Given the description of an element on the screen output the (x, y) to click on. 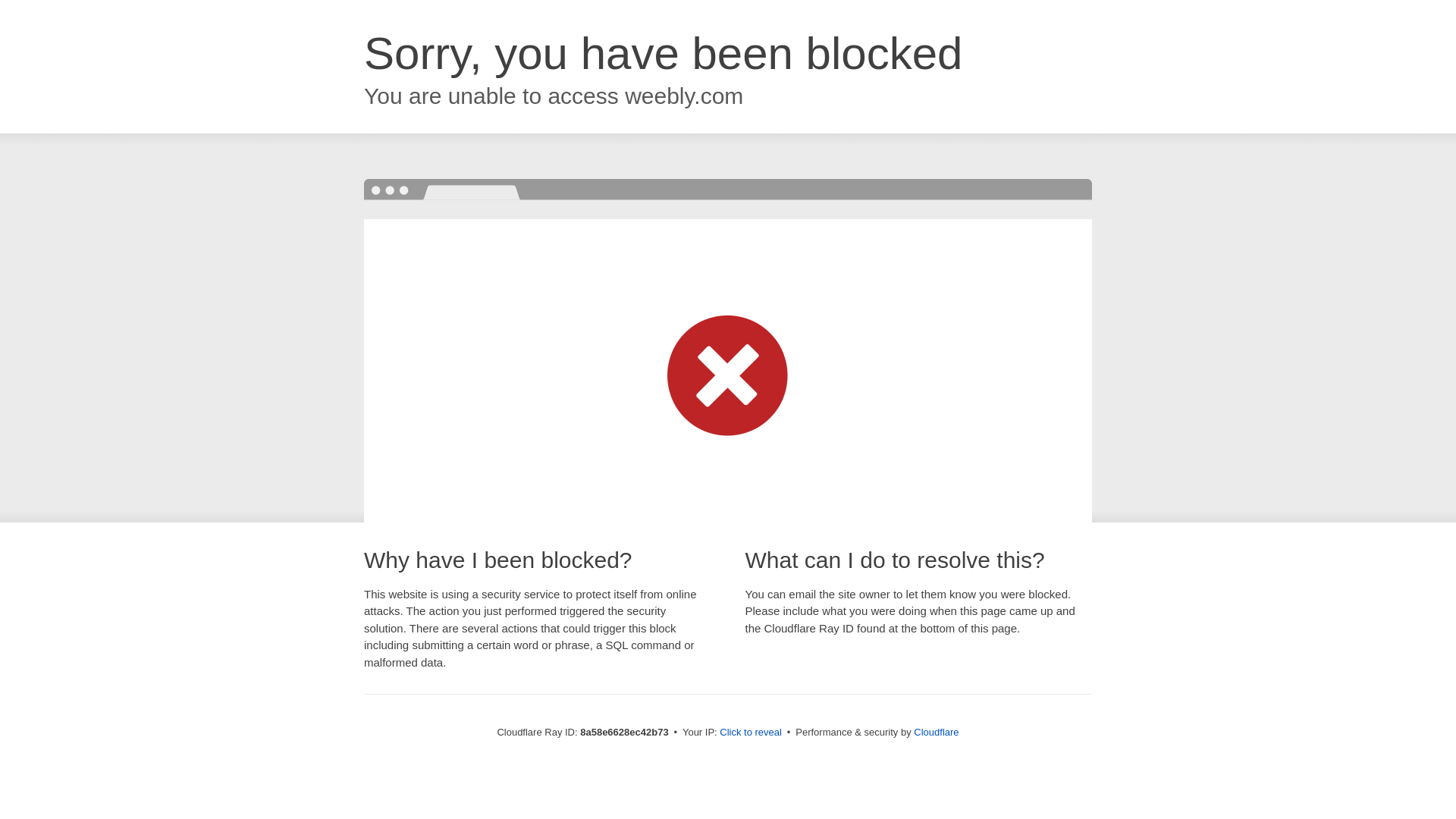
Cloudflare (936, 731)
Click to reveal (750, 732)
